Given the description of an element on the screen output the (x, y) to click on. 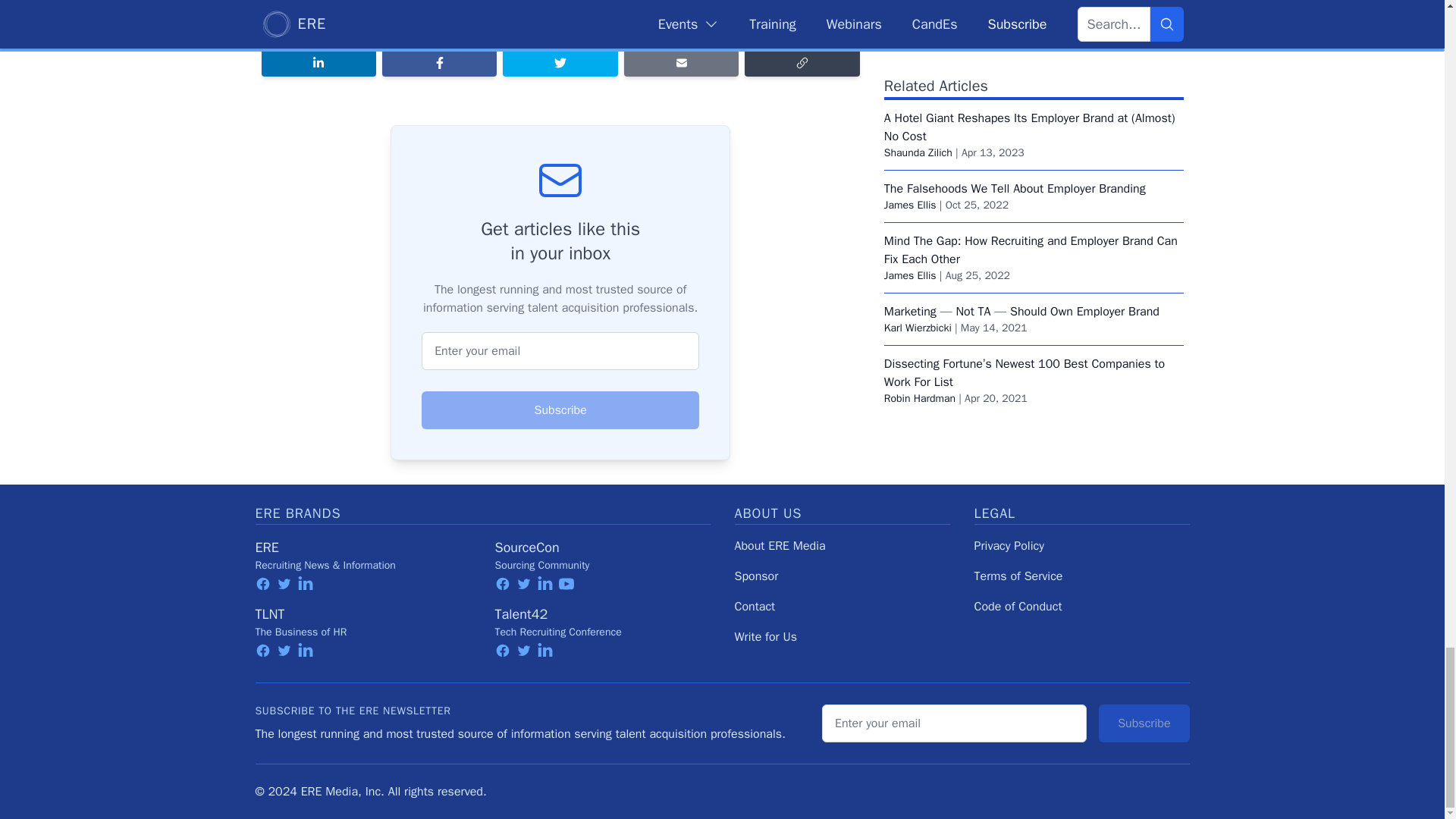
Wake-up Call (518, 24)
Sign up today! (431, 1)
Subscribe (560, 410)
